Given the description of an element on the screen output the (x, y) to click on. 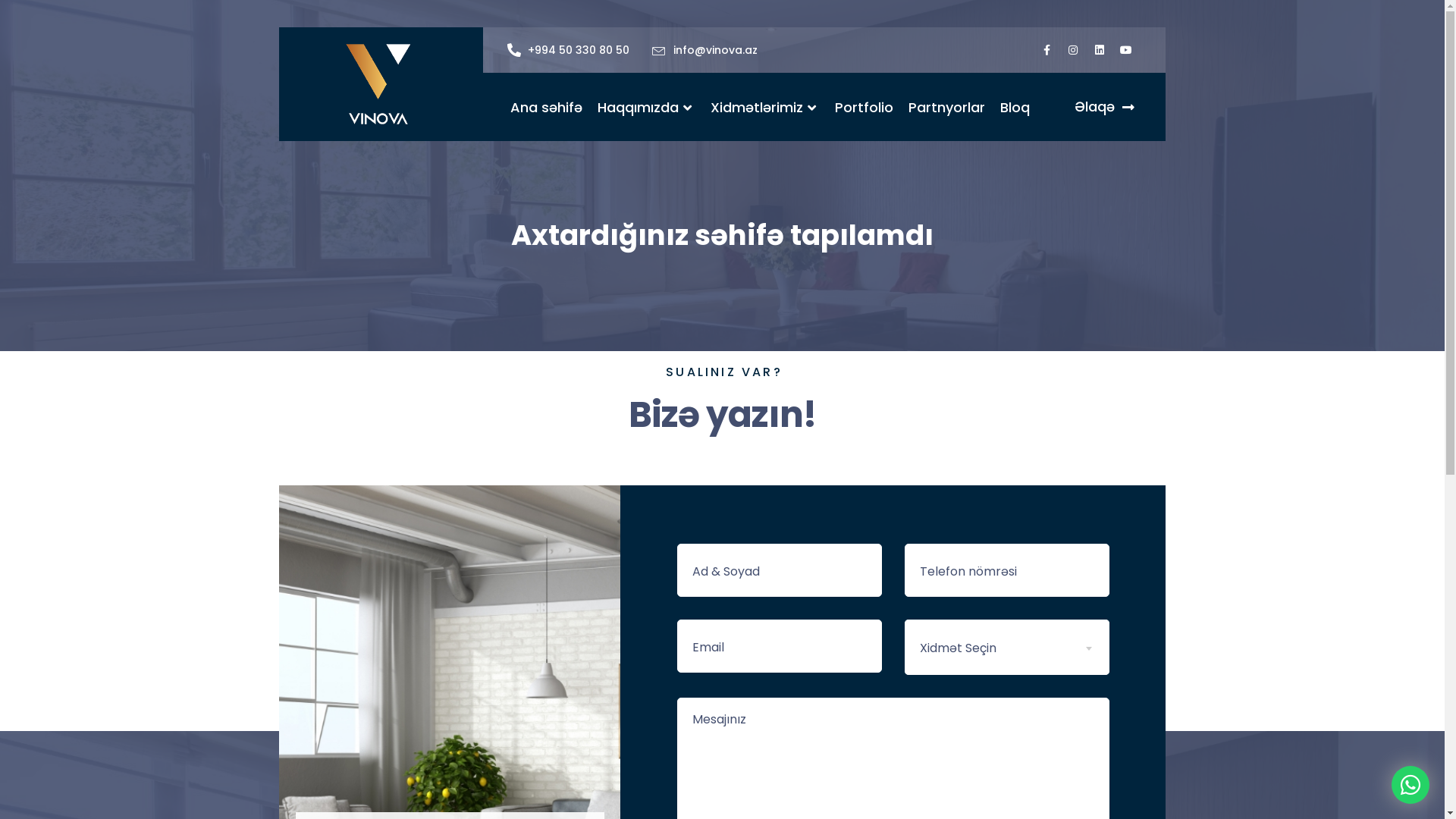
Partnyorlar Element type: text (946, 107)
+994 50 330 80 50 Element type: text (568, 49)
Portfolio Element type: text (863, 107)
vinova-logo-ag Element type: hover (380, 83)
Bloq Element type: text (1010, 107)
info@vinova.az Element type: text (704, 49)
